Given the description of an element on the screen output the (x, y) to click on. 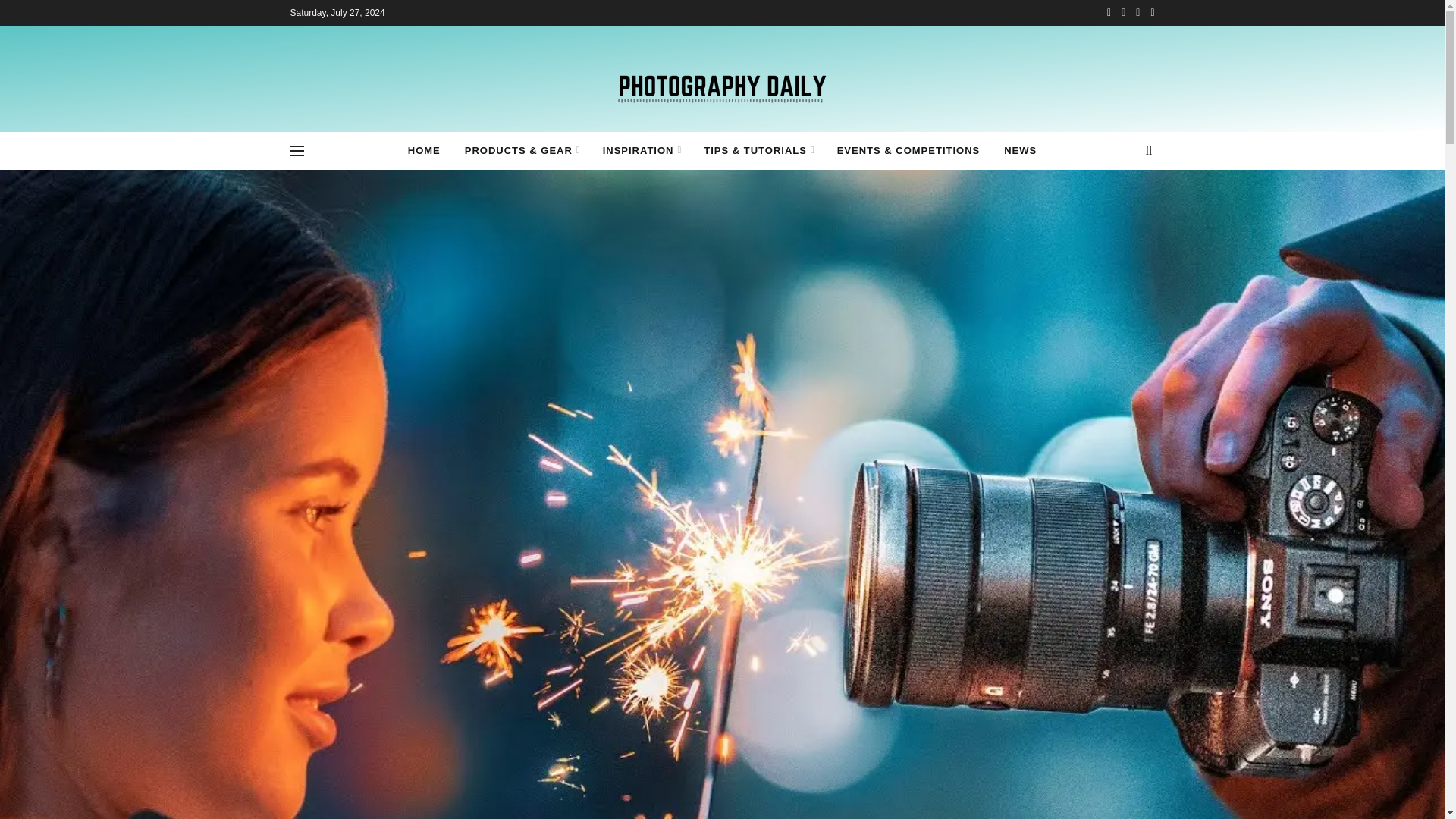
HOME (424, 150)
INSPIRATION (642, 150)
